Given the description of an element on the screen output the (x, y) to click on. 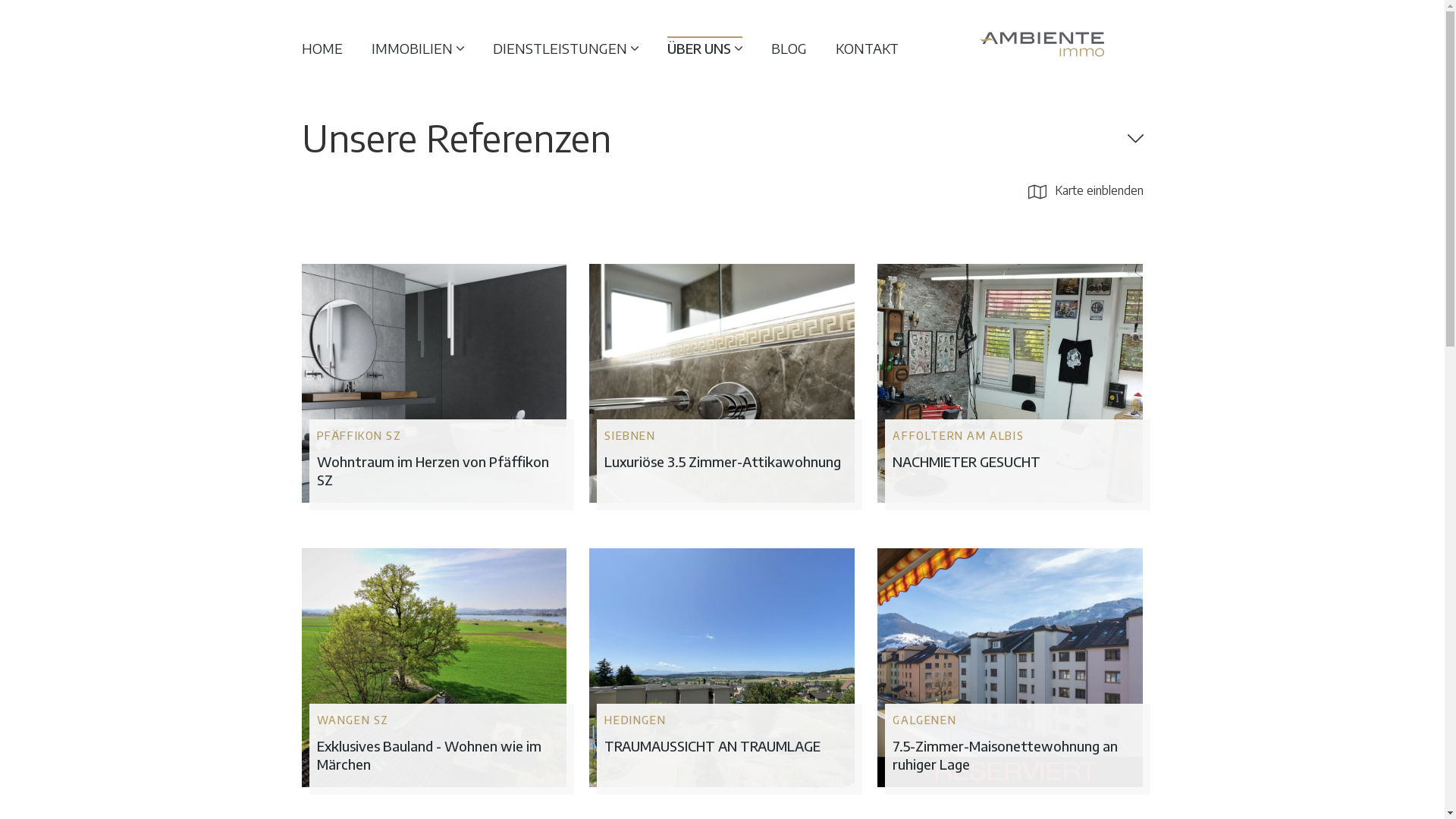
KONTAKT Element type: text (866, 47)
IMMOBILIEN Element type: text (417, 47)
BLOG Element type: text (788, 47)
Karte einblenden Element type: text (1085, 190)
HOME Element type: text (321, 47)
DIENSTLEISTUNGEN Element type: text (565, 47)
